Given the description of an element on the screen output the (x, y) to click on. 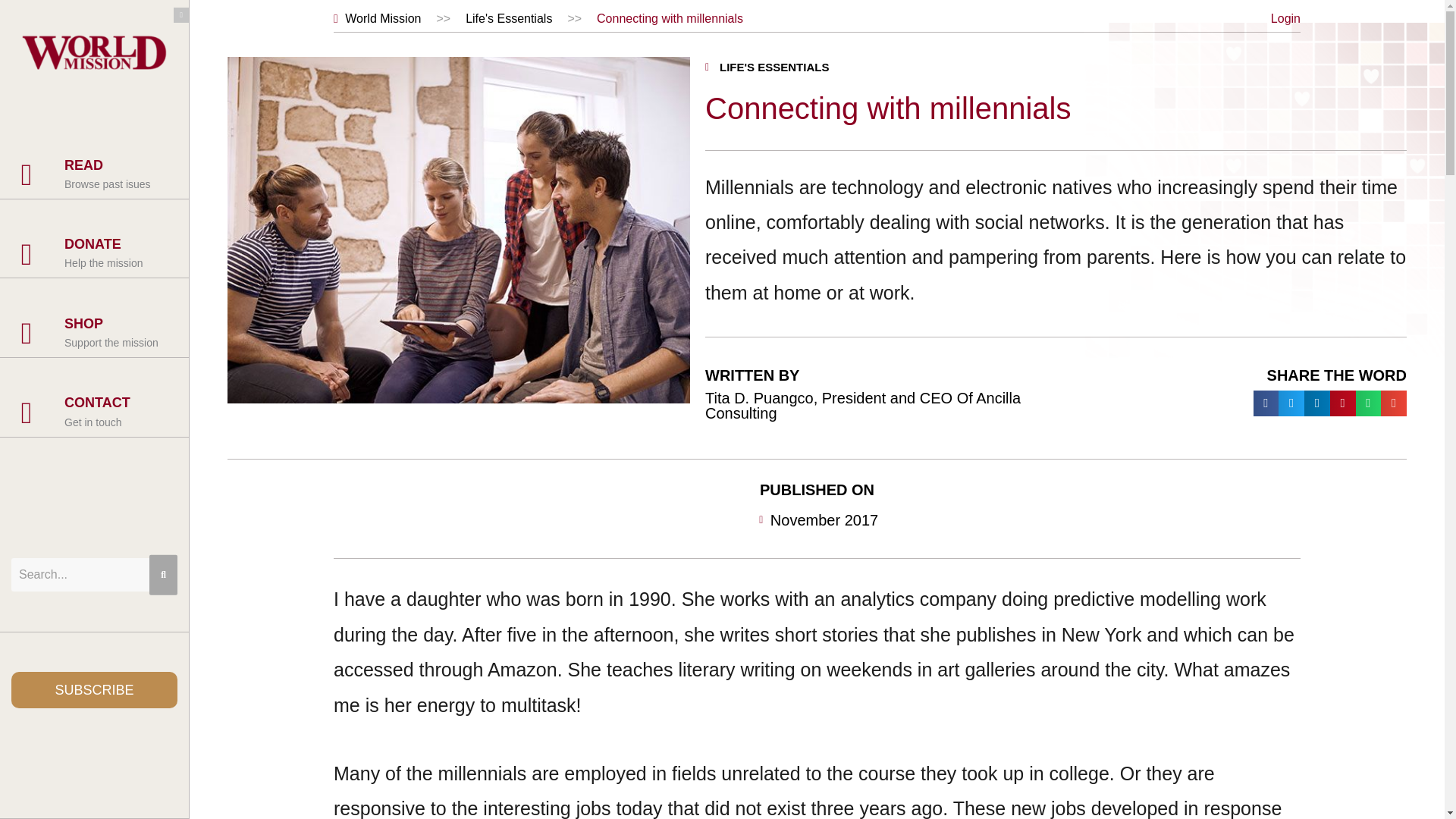
World Mission (376, 18)
Search (94, 574)
LIFE'S ESSENTIALS (773, 66)
Life's Essentials (508, 18)
SUBSCRIBE (94, 689)
Login (1285, 18)
